Given the description of an element on the screen output the (x, y) to click on. 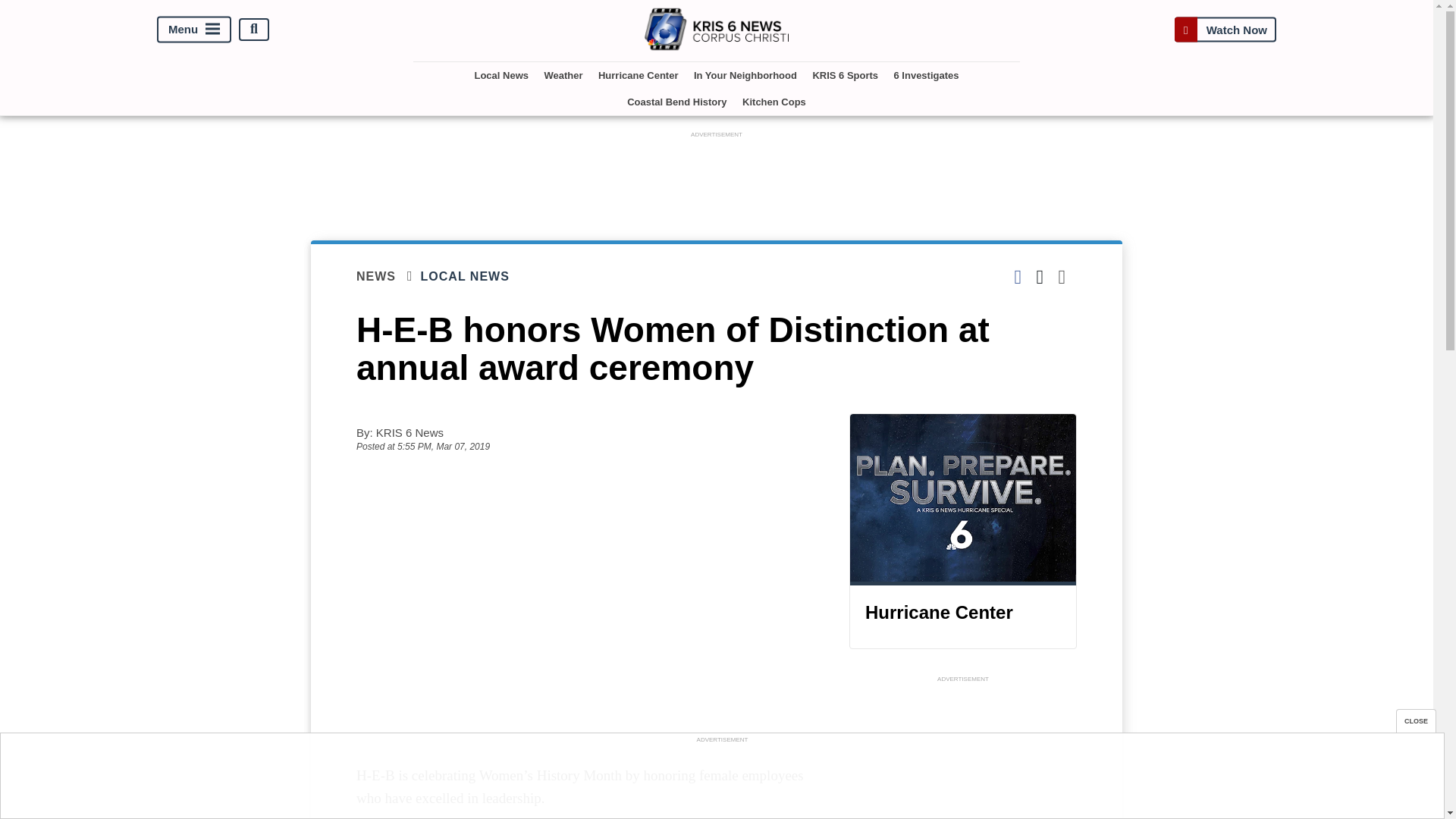
Watch Now (1224, 29)
3rd party ad content (962, 752)
Menu (194, 28)
YouTube player (587, 582)
3rd party ad content (716, 175)
3rd party ad content (721, 780)
